Given the description of an element on the screen output the (x, y) to click on. 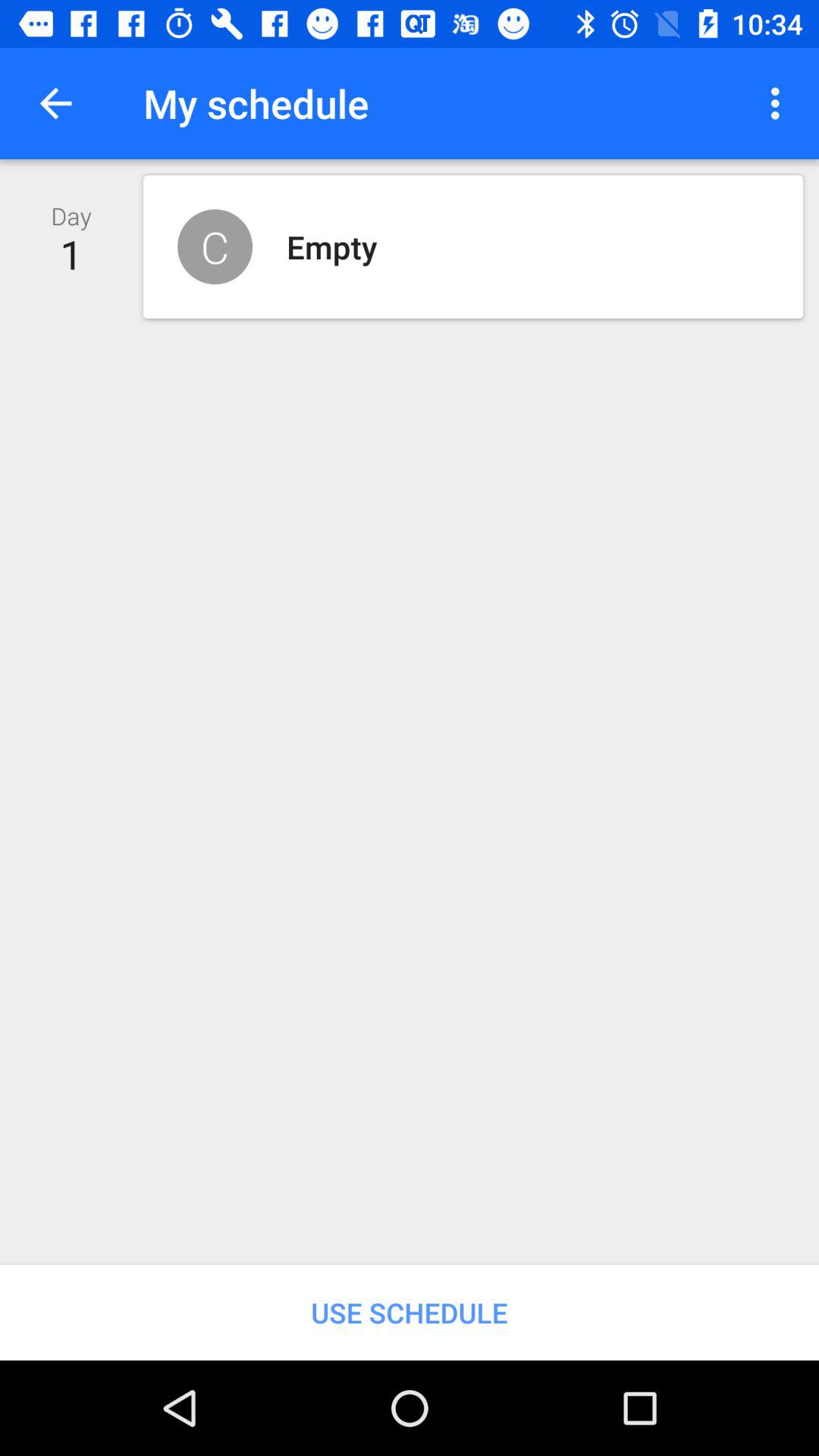
open the item to the right of the my schedule icon (779, 103)
